Given the description of an element on the screen output the (x, y) to click on. 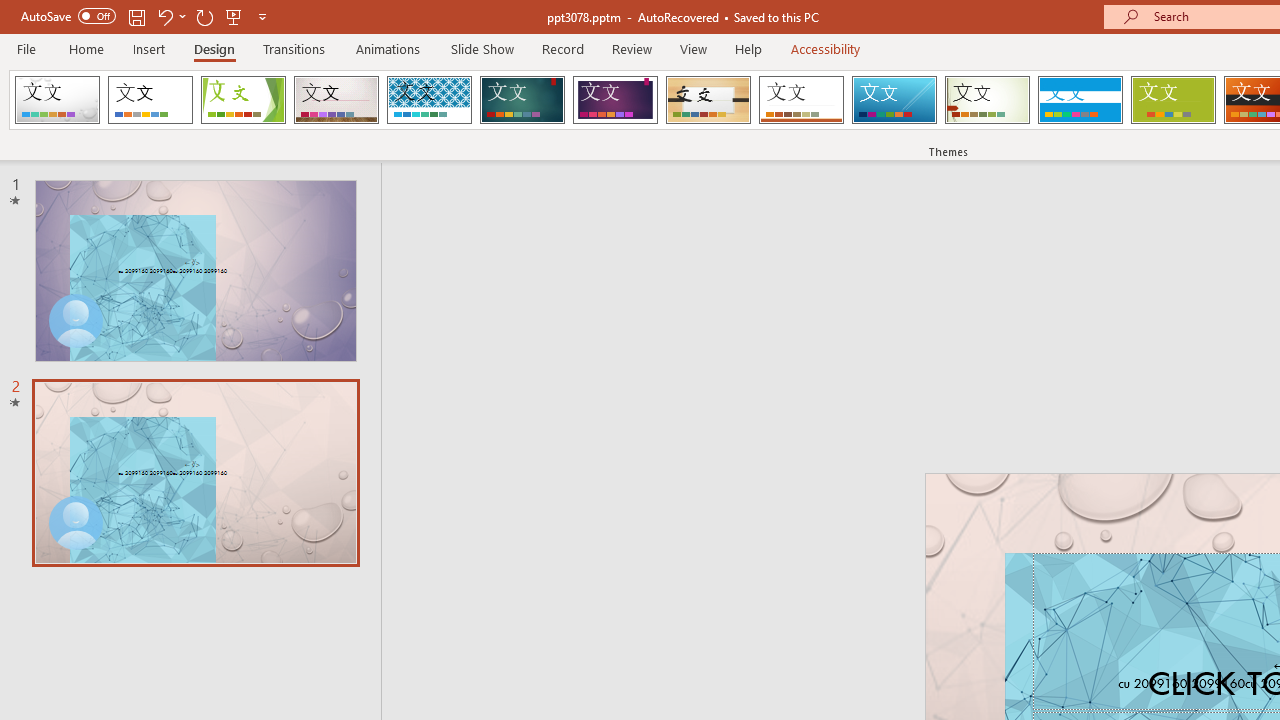
Basis (1172, 100)
Retrospect (801, 100)
Slice (893, 100)
